Given the description of an element on the screen output the (x, y) to click on. 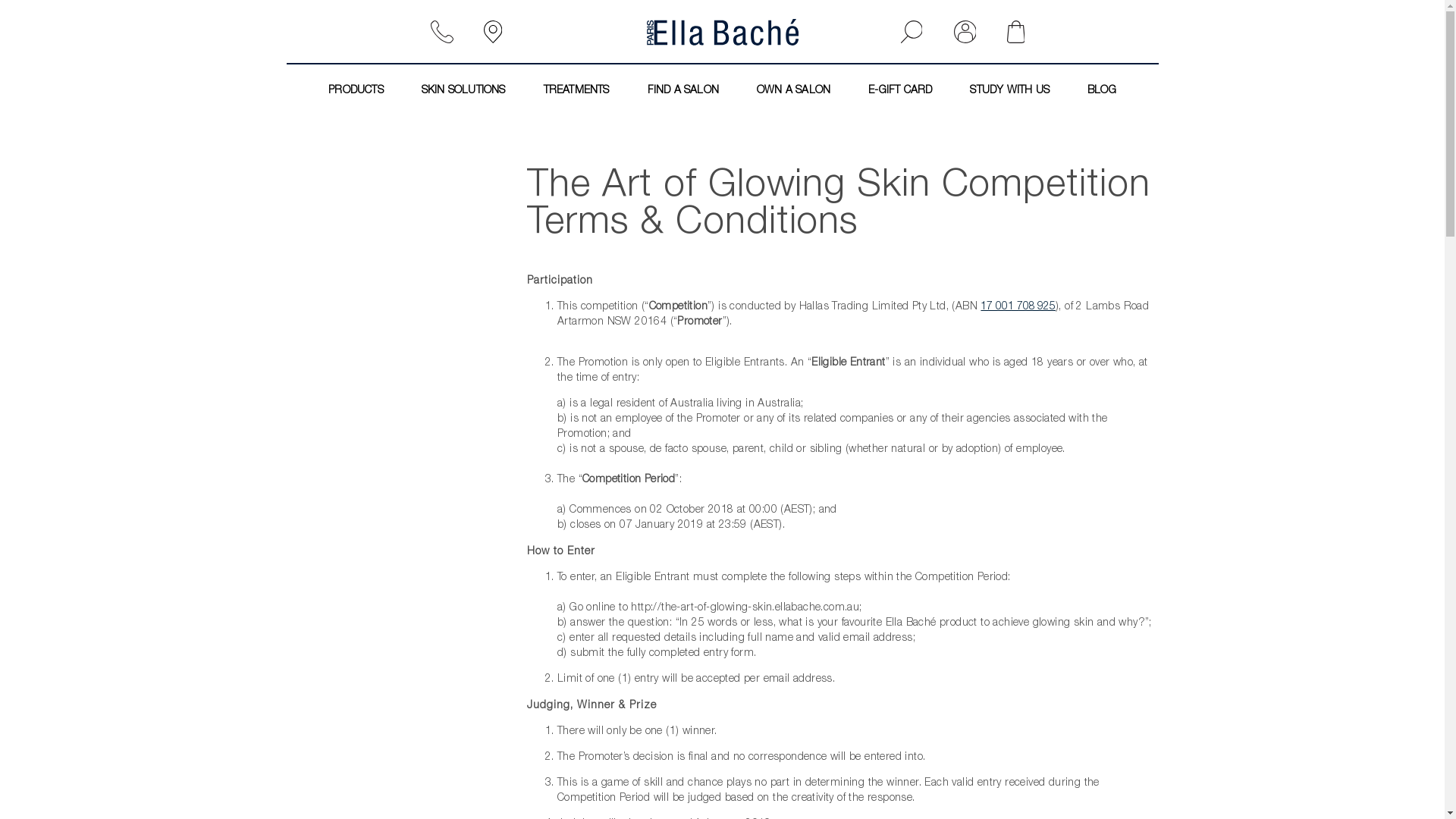
FIND A SALON Element type: text (682, 90)
STUDY WITH US Element type: text (1009, 90)
SKIN SOLUTIONS Element type: text (463, 90)
OWN A SALON Element type: text (793, 90)
TREATMENTS Element type: text (576, 90)
E-GIFT CARD Element type: text (899, 90)
1300 845 259 Element type: text (447, 31)
17 001 708 925 Element type: text (1017, 306)
BLOG Element type: text (1101, 90)
PRODUCTS Element type: text (355, 90)
